Given the description of an element on the screen output the (x, y) to click on. 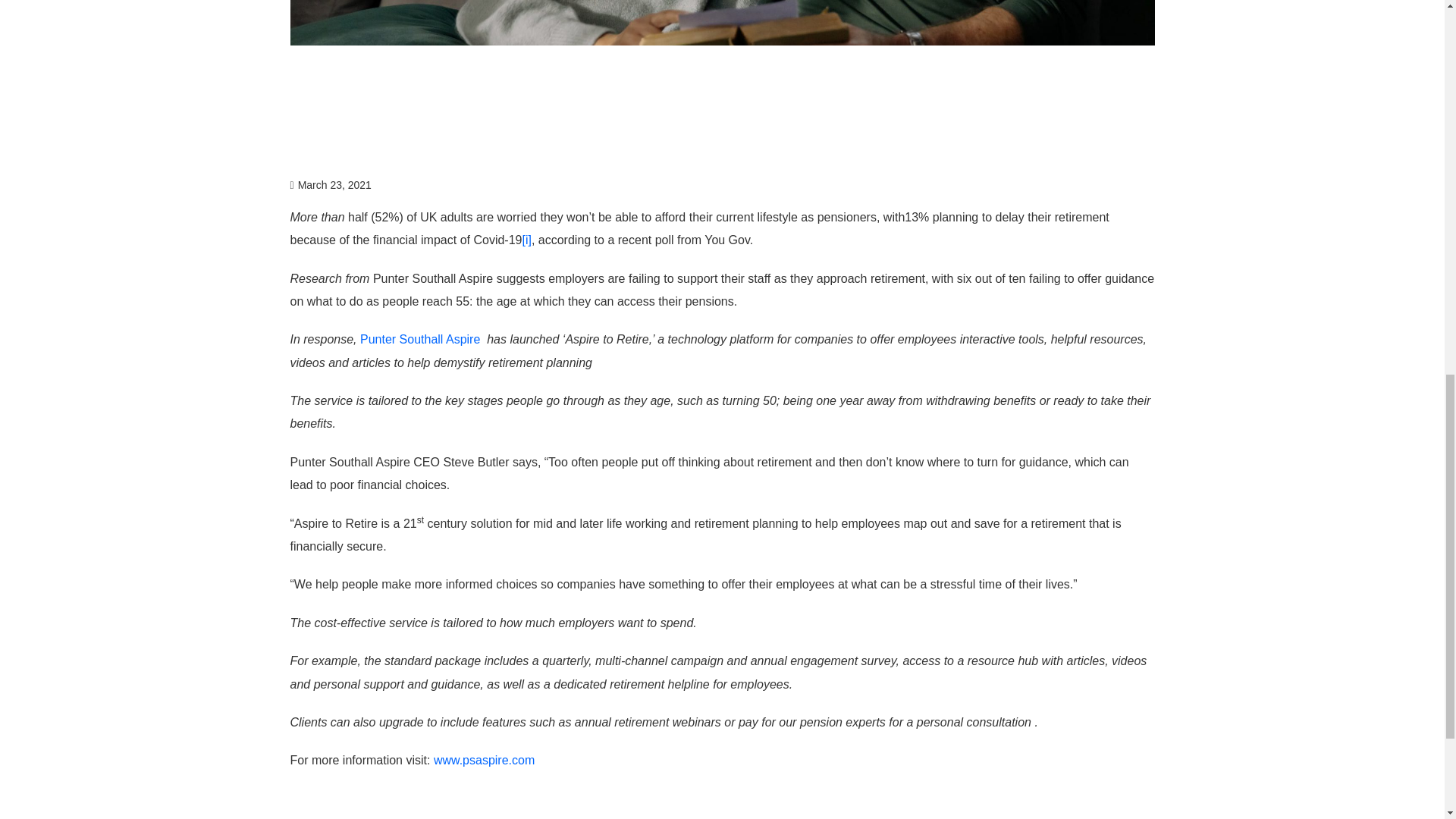
March 23, 2021 (330, 184)
www.psaspire.com (483, 759)
Punter Southall Aspire (419, 338)
